Given the description of an element on the screen output the (x, y) to click on. 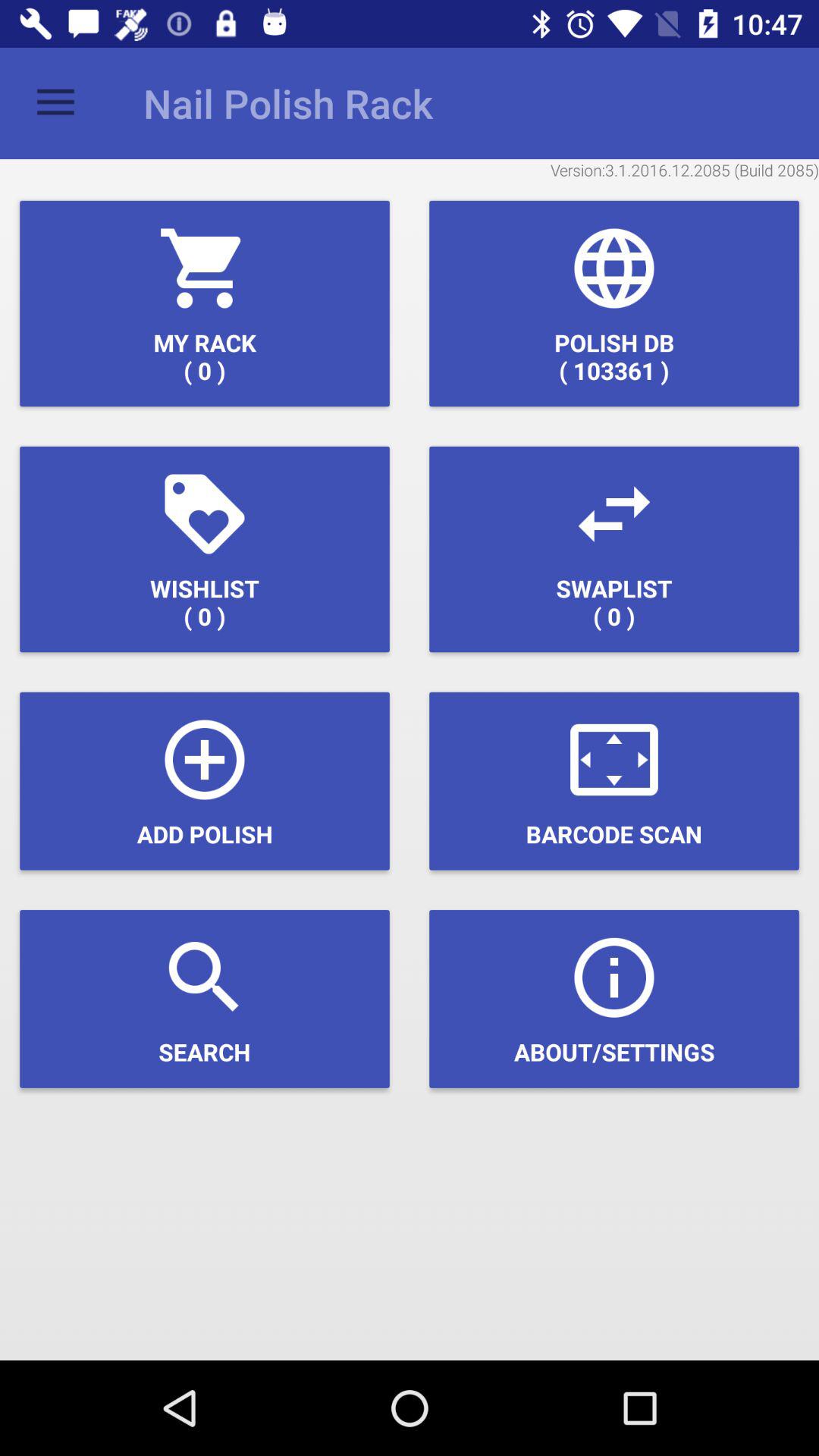
scroll until wishlist
( 0 ) icon (204, 549)
